Given the description of an element on the screen output the (x, y) to click on. 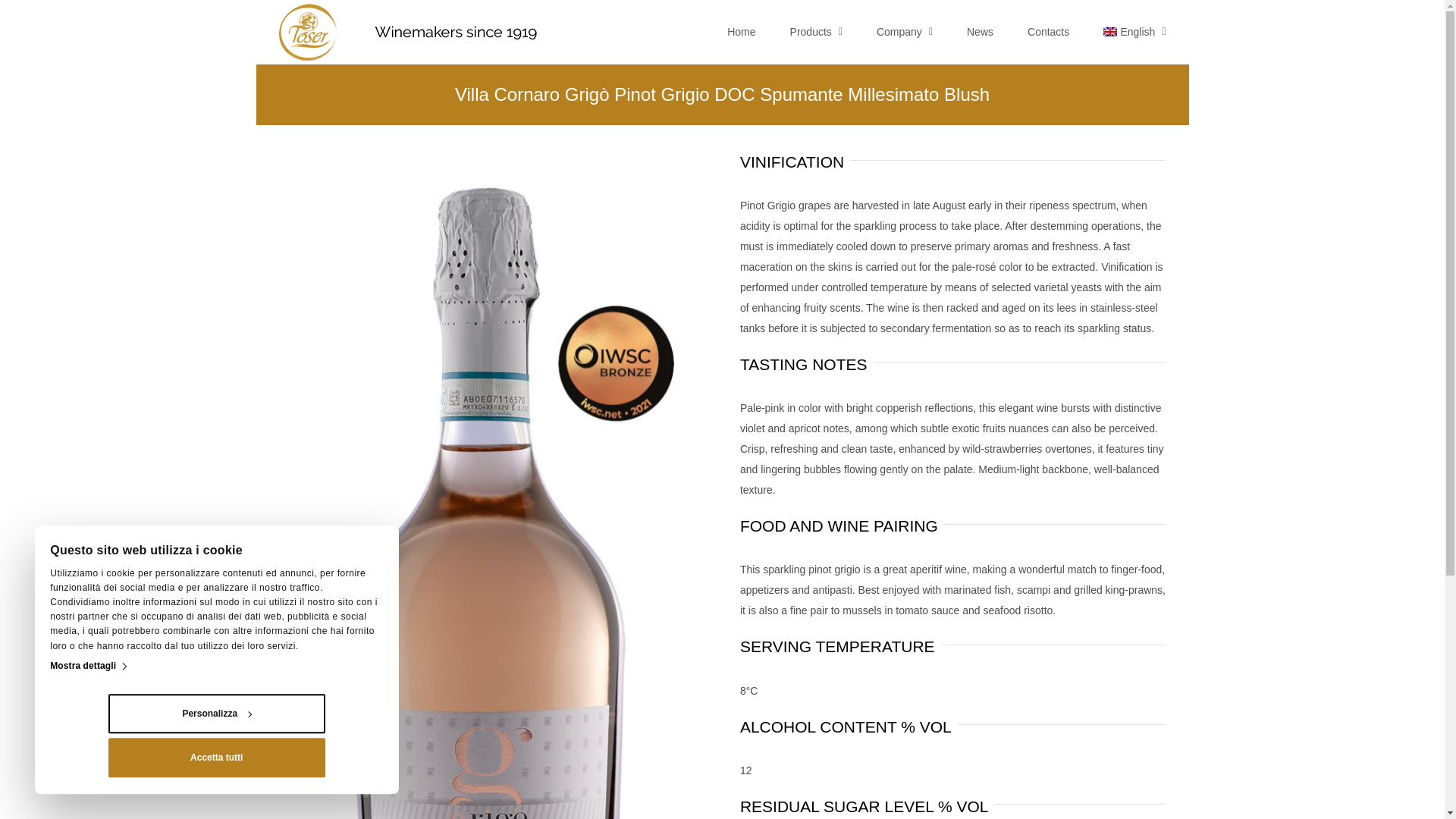
Home (740, 31)
Mostra dettagli (87, 666)
Products (816, 31)
Company (904, 31)
English (1134, 31)
Personalizza (215, 713)
English (1109, 31)
Accetta tutti (215, 758)
